Given the description of an element on the screen output the (x, y) to click on. 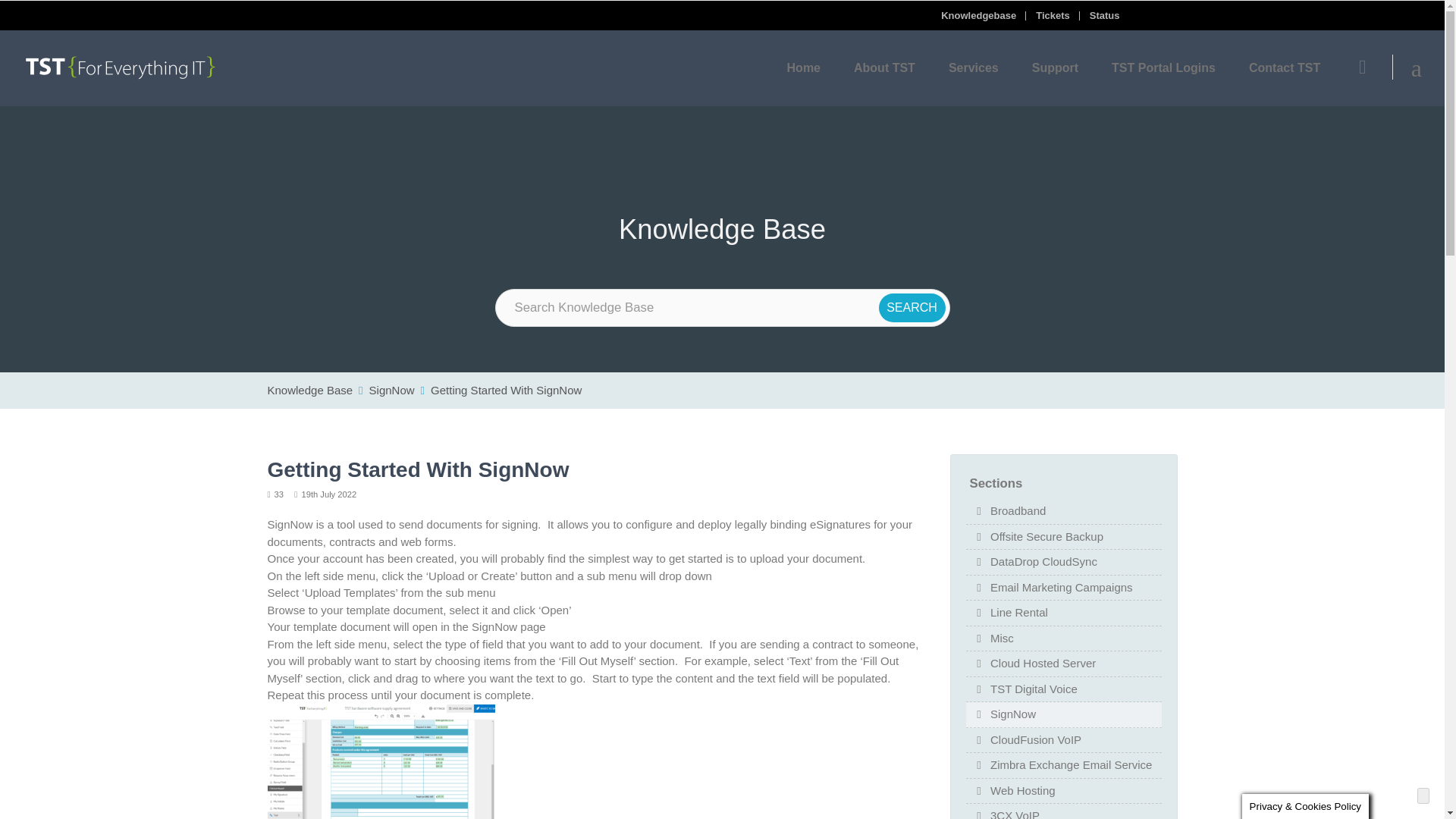
Support (1054, 68)
Tickets (1057, 15)
Status (1109, 15)
Search (910, 307)
Services (973, 68)
Contact TST (1284, 68)
TST Portal Logins (1163, 68)
Knowledgebase (983, 15)
About TST (884, 68)
